Given the description of an element on the screen output the (x, y) to click on. 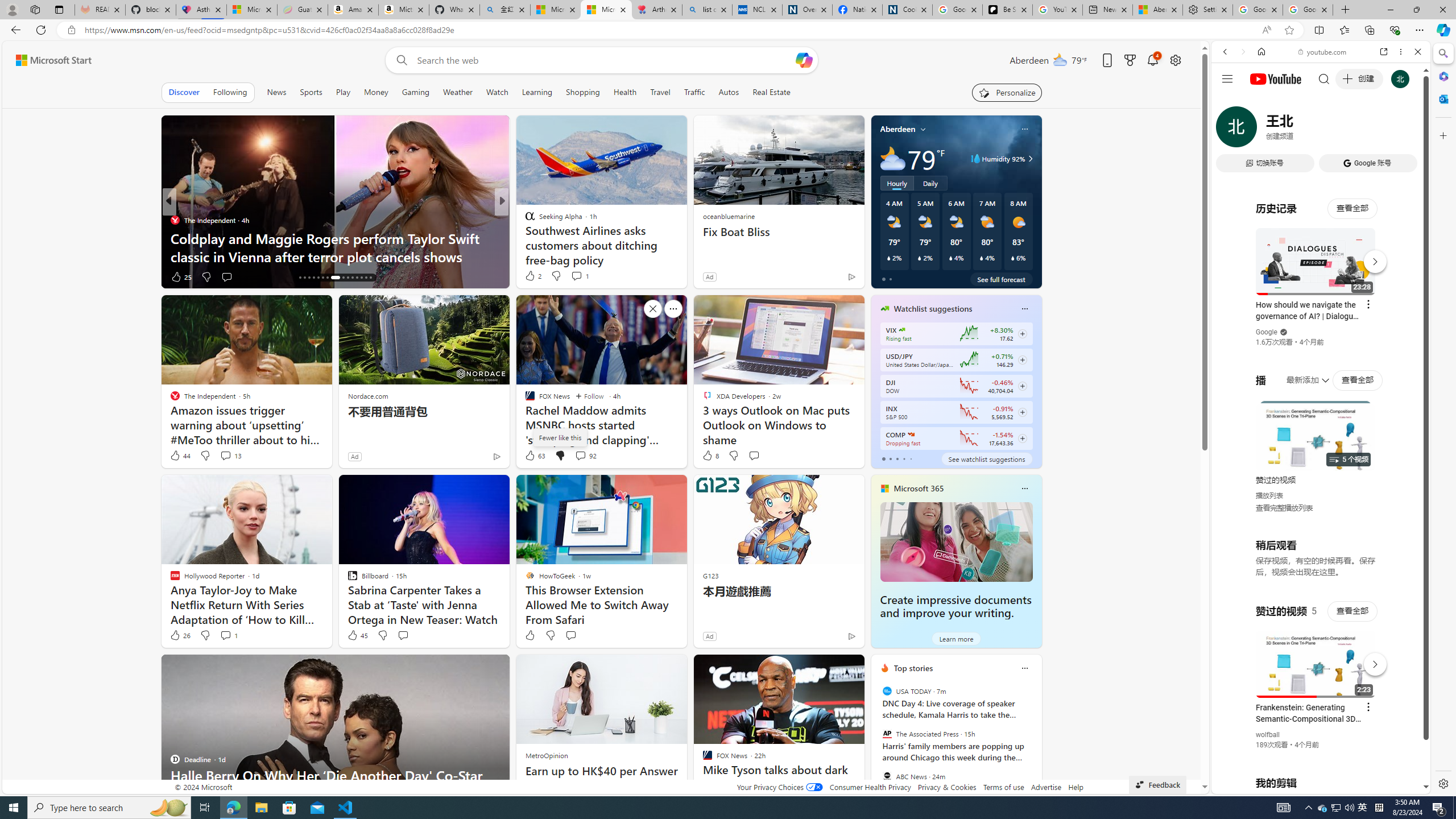
The Washington Post (524, 219)
Mostly cloudy (892, 158)
#you (1320, 253)
See watchlist suggestions (986, 459)
MetroOpinion (546, 755)
Health (624, 92)
View comments 13 Comment (230, 455)
